Given the description of an element on the screen output the (x, y) to click on. 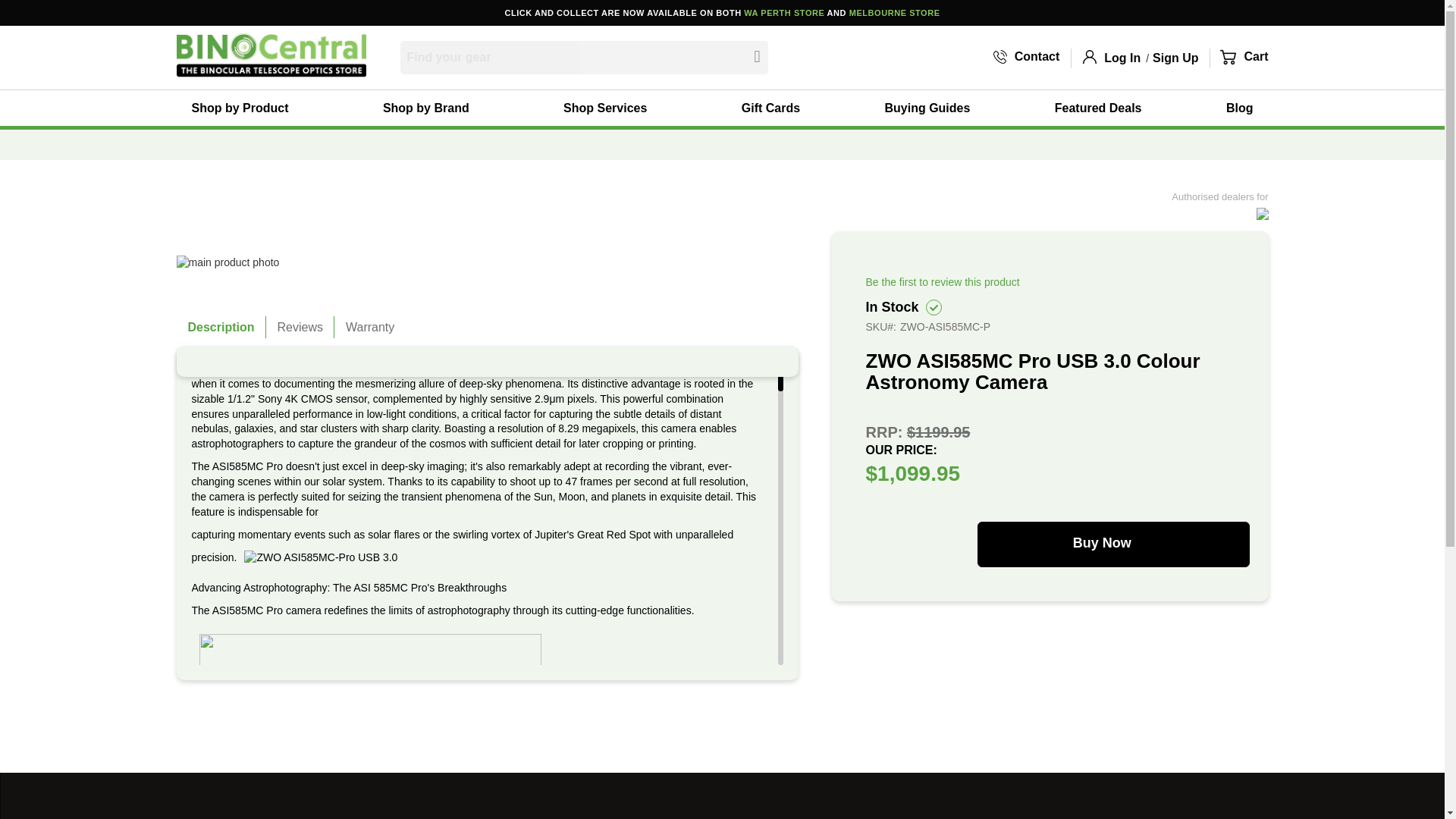
Log In (1121, 57)
Contact (1025, 57)
Buy Now (1112, 544)
Cart (1244, 57)
Shop by Product (244, 108)
Sign Up (1175, 57)
BinoCentral (270, 54)
